Given the description of an element on the screen output the (x, y) to click on. 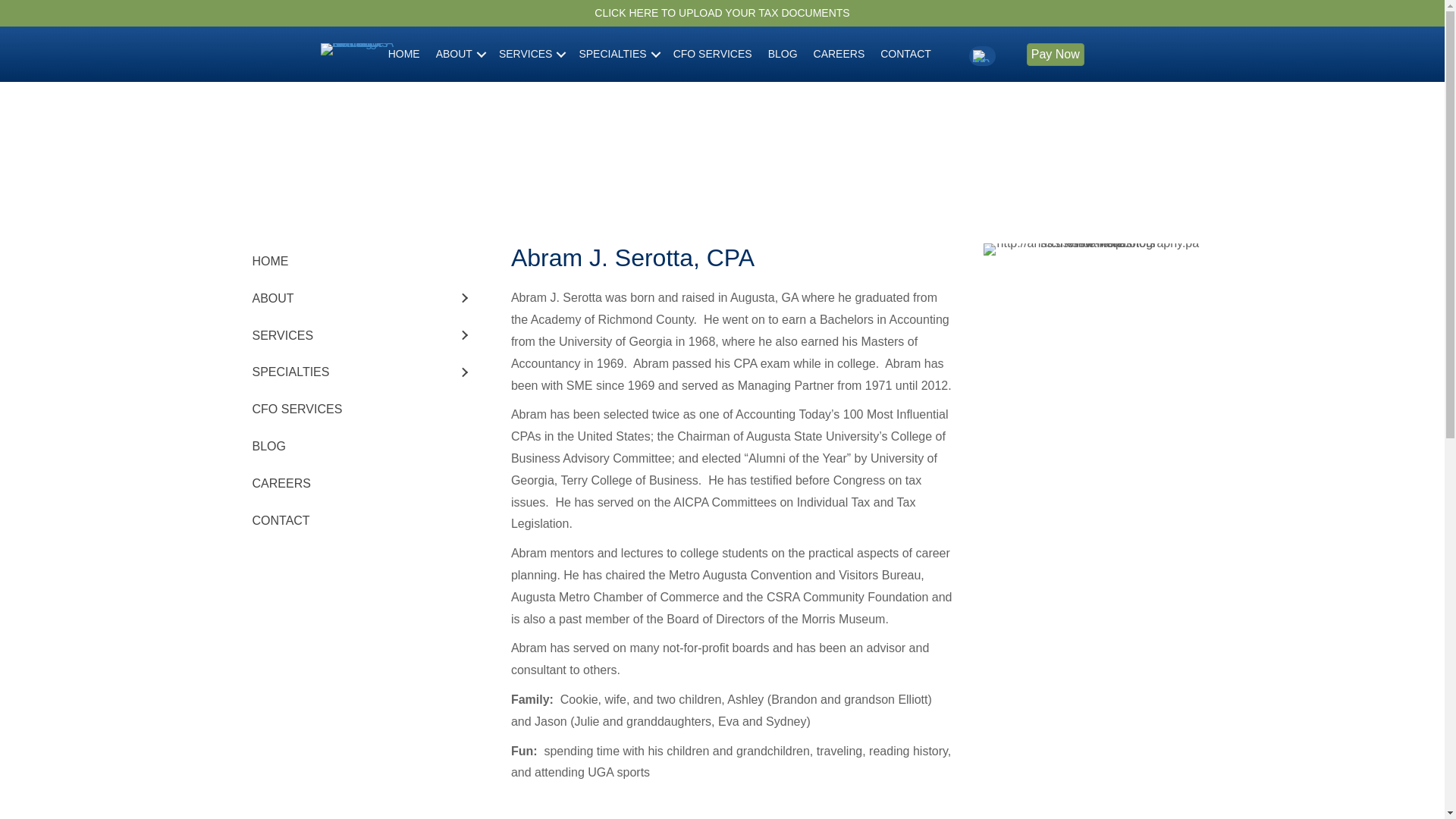
SERVICES (531, 53)
Pay Now (1055, 54)
CAREERS (839, 53)
CLICK HERE TO UPLOAD YOUR TAX DOCUMENTS (721, 12)
CONTACT (905, 53)
ABOUT (459, 53)
member (981, 55)
SPECIALTIES (616, 53)
CFO SERVICES (712, 53)
logo (358, 49)
